Given the description of an element on the screen output the (x, y) to click on. 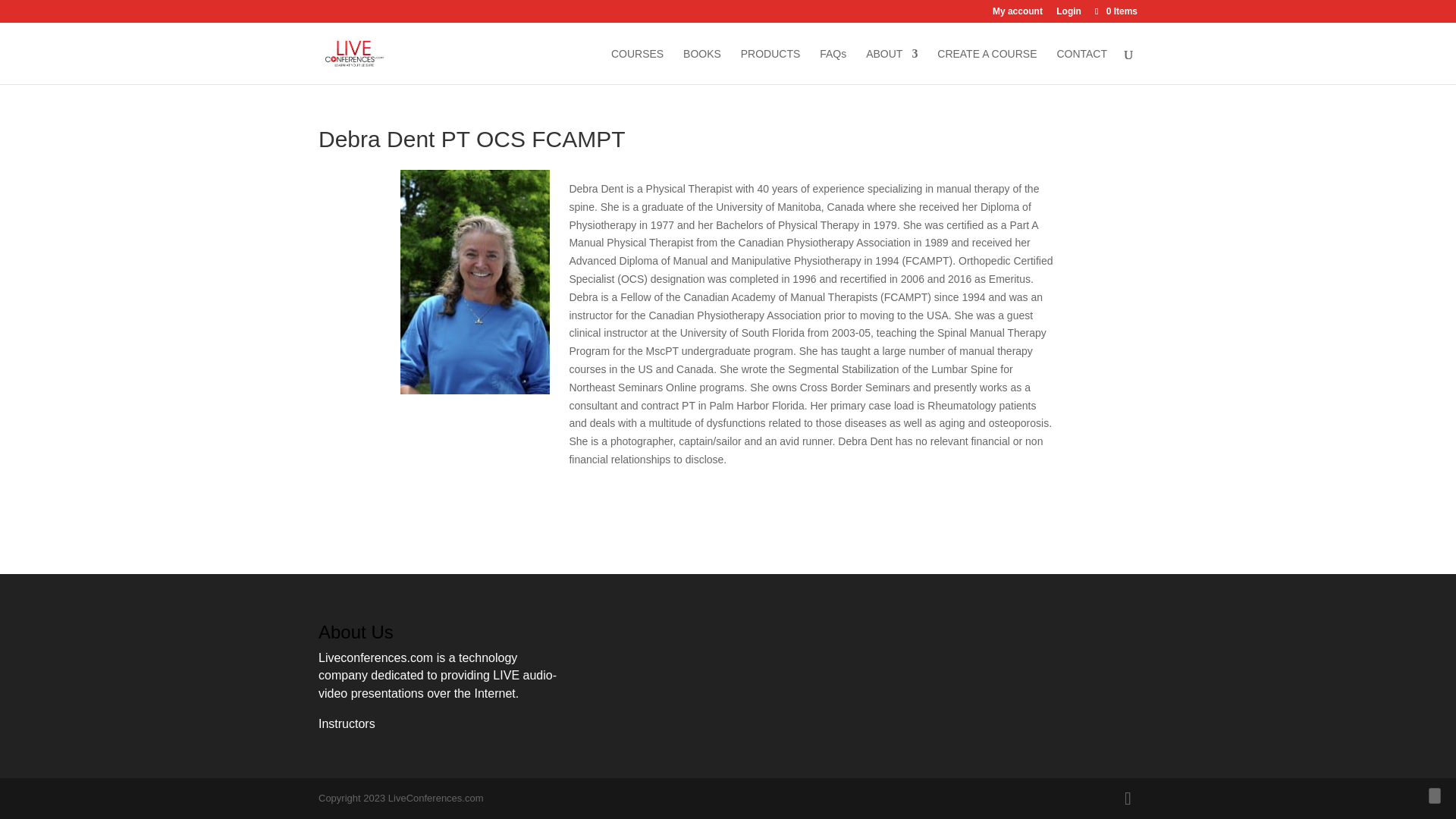
My account (1017, 14)
PRODUCTS (770, 66)
CREATE A COURSE (986, 66)
Login (1069, 14)
COURSES (637, 66)
CONTACT (1081, 66)
0 Items (1115, 10)
BOOKS (701, 66)
ABOUT (891, 66)
